Given the description of an element on the screen output the (x, y) to click on. 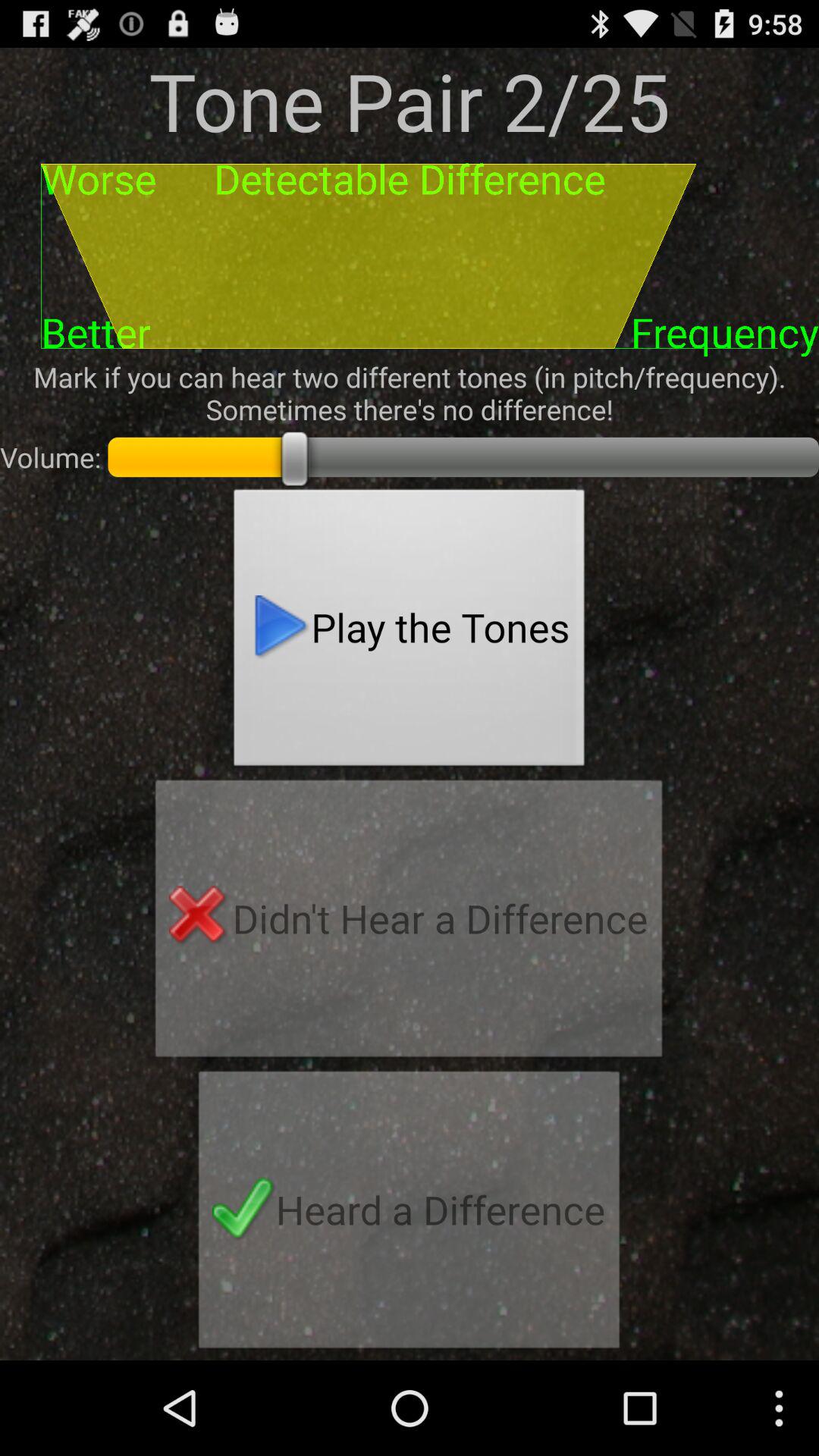
tap icon next to volume:  icon (409, 631)
